Given the description of an element on the screen output the (x, y) to click on. 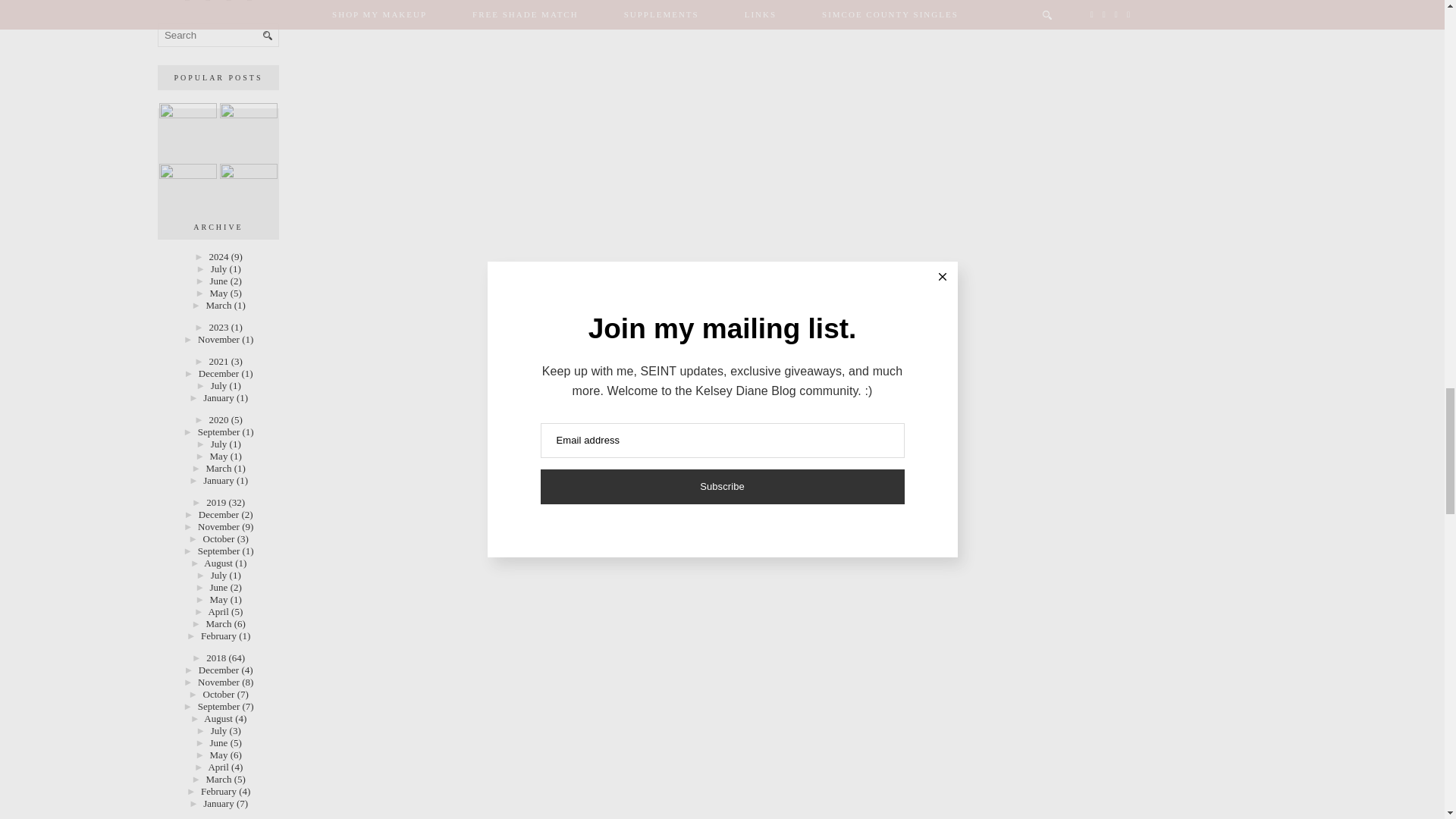
Search (218, 34)
